Given the description of an element on the screen output the (x, y) to click on. 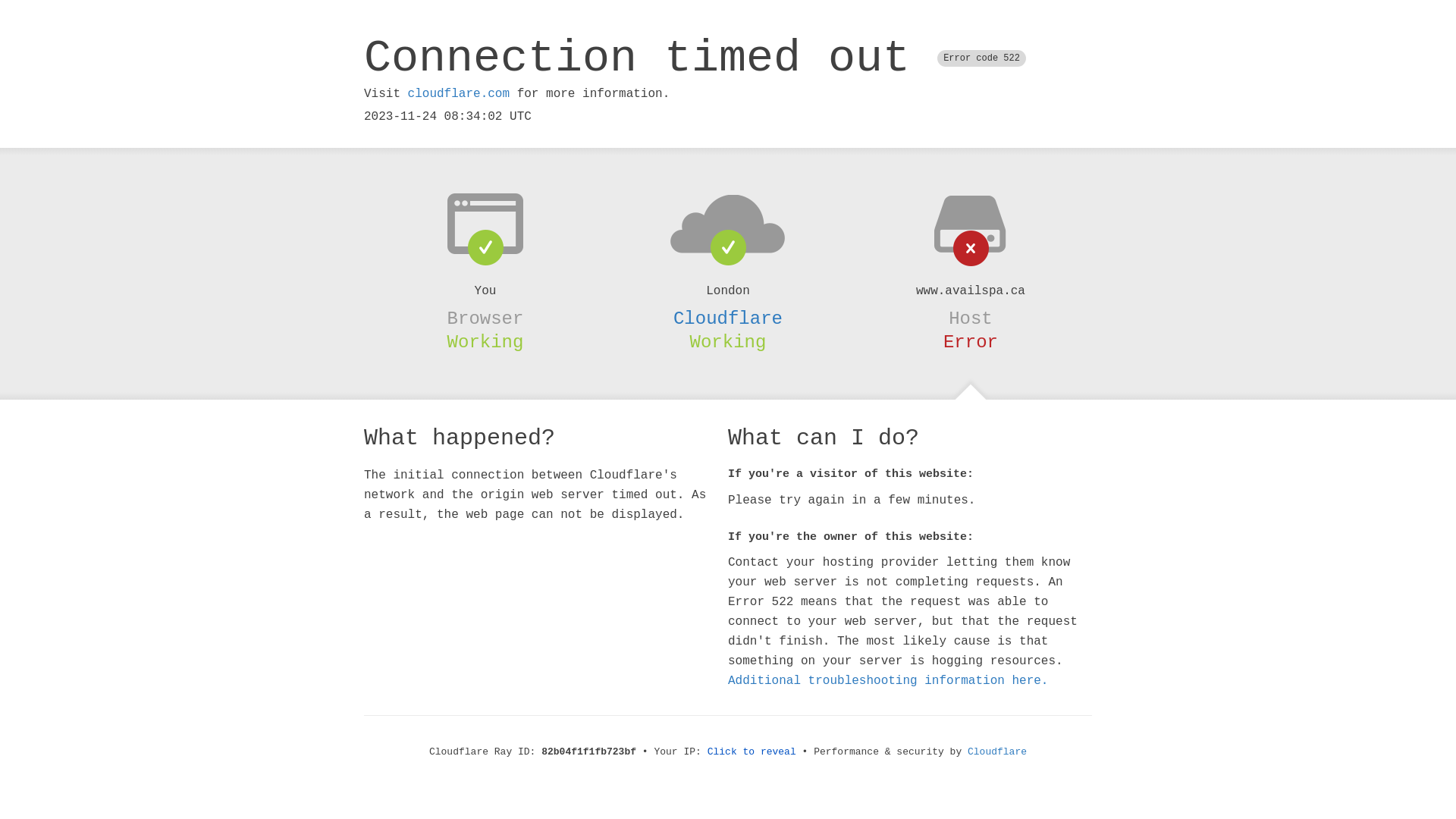
cloudflare.com Element type: text (458, 93)
Cloudflare Element type: text (727, 318)
Click to reveal Element type: text (751, 751)
Cloudflare Element type: text (996, 751)
Additional troubleshooting information here. Element type: text (888, 680)
